Given the description of an element on the screen output the (x, y) to click on. 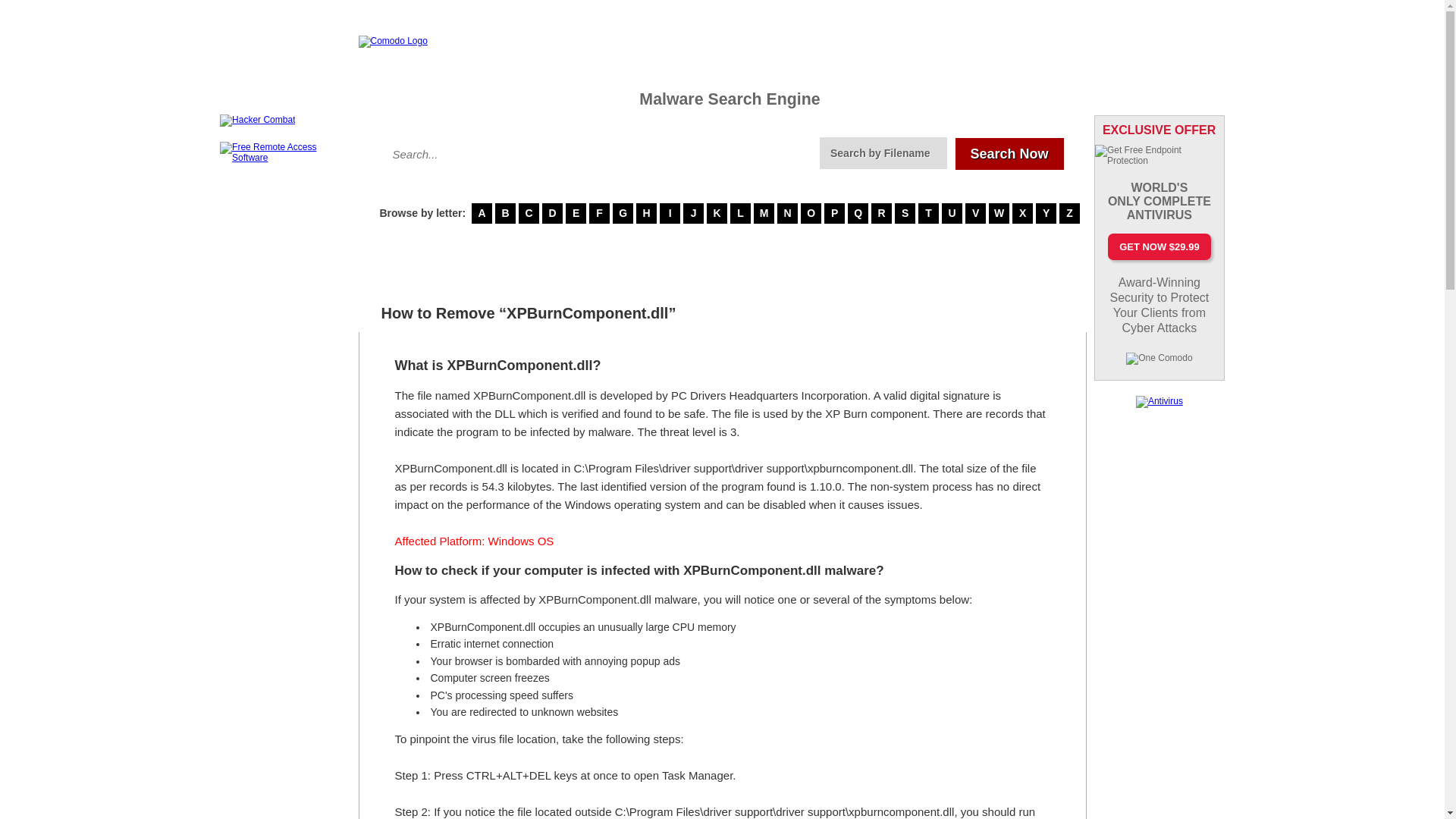
Q (857, 213)
P (834, 213)
O (810, 213)
C (528, 213)
G (622, 213)
Search by Filename (882, 152)
Search Now (1009, 153)
Z (1069, 213)
Y (1046, 213)
E (576, 213)
